Given the description of an element on the screen output the (x, y) to click on. 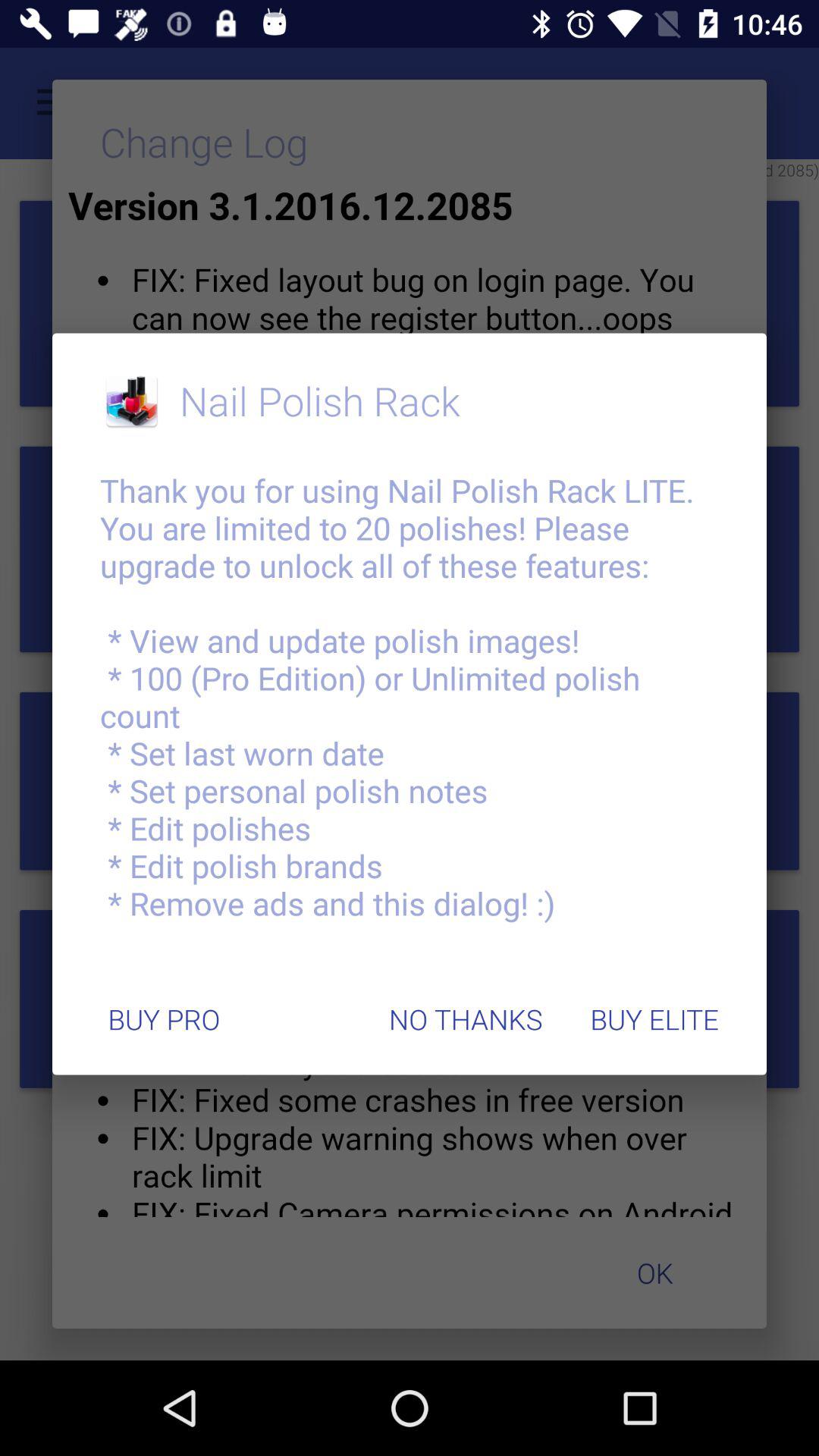
open item to the left of the buy elite icon (465, 1018)
